Given the description of an element on the screen output the (x, y) to click on. 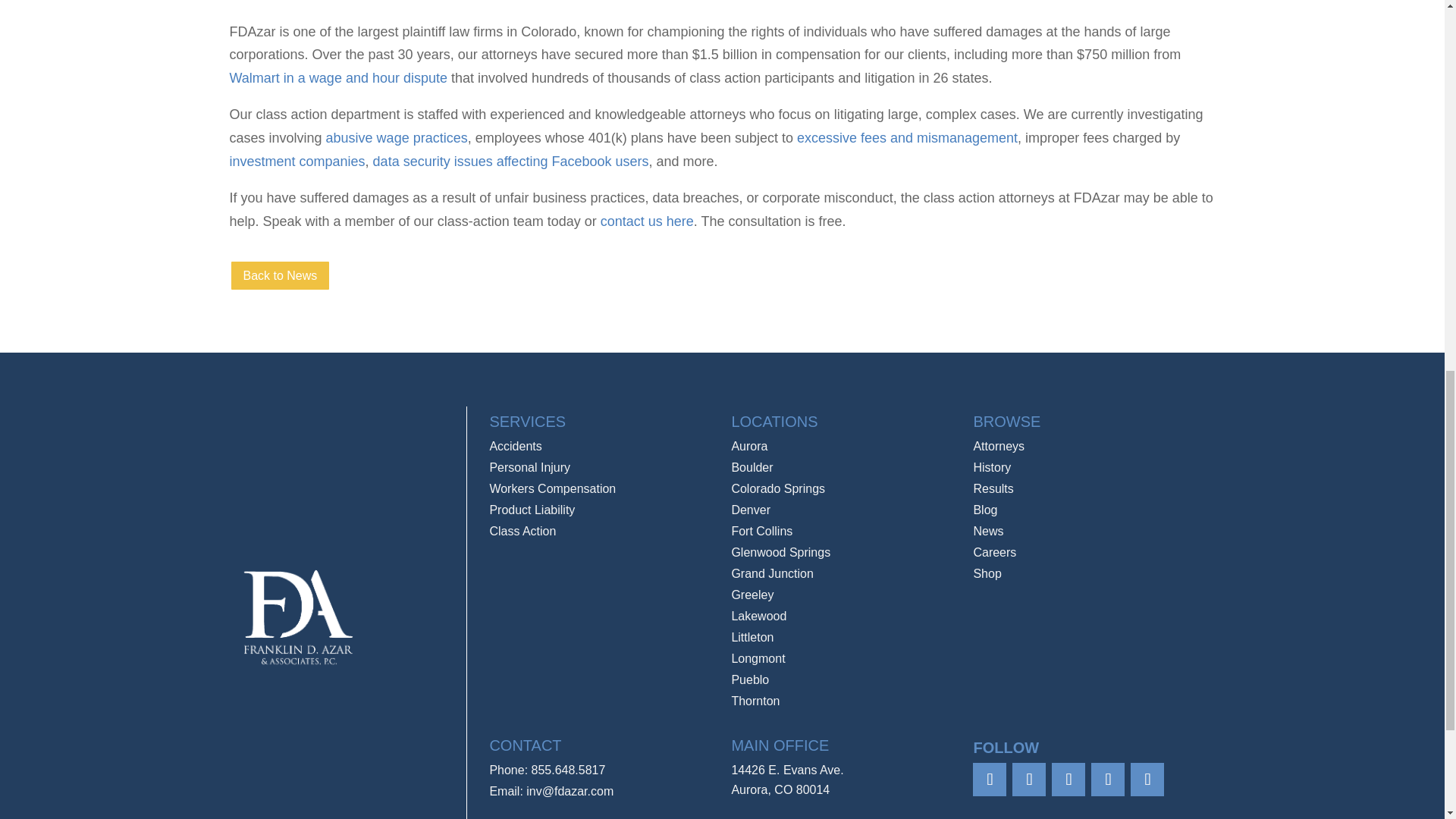
Follow on Youtube (1147, 779)
Frank Azar Shop (986, 573)
Follow on Twitter (1028, 779)
Follow on Instagram (1067, 779)
Follow on Facebook (989, 779)
Follow on LinkedIn (1107, 779)
